Given the description of an element on the screen output the (x, y) to click on. 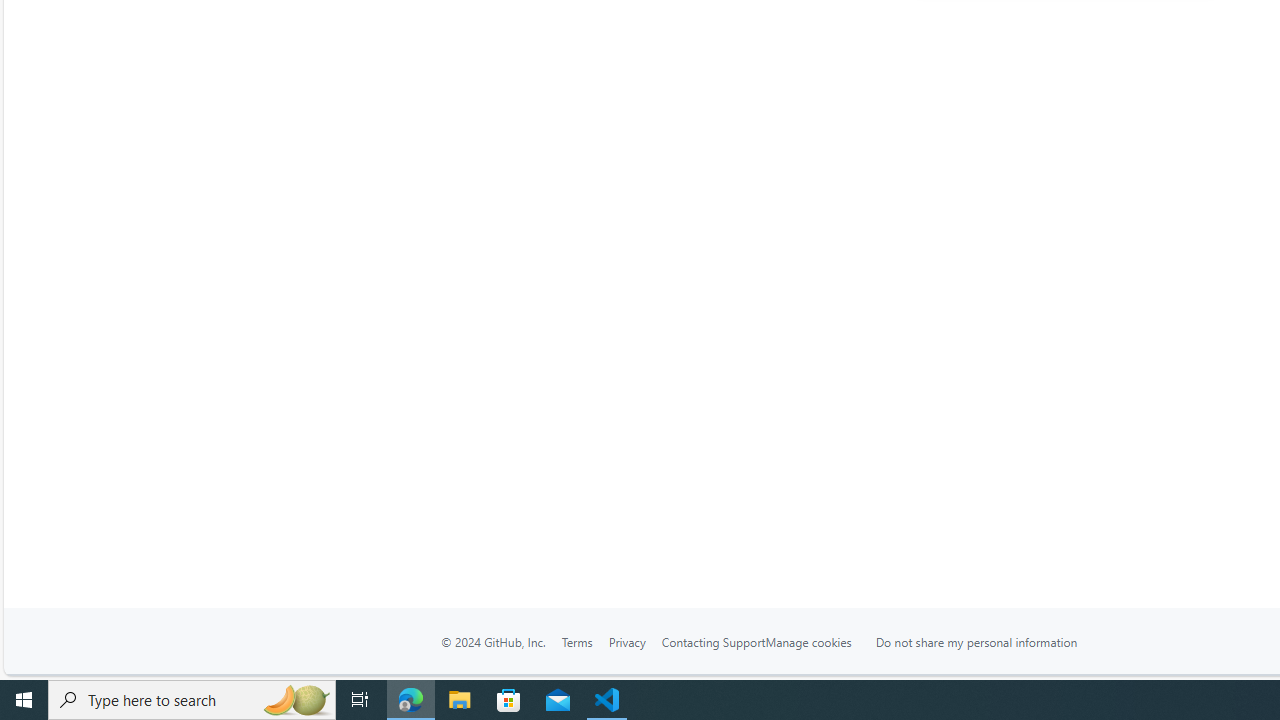
Terms (576, 641)
Contacting Support (712, 642)
Do not share my personal information (976, 641)
Contacting Support (712, 641)
Manage cookiesDo not share my personal information (933, 641)
Terms (576, 642)
Manage cookies (808, 641)
